Given the description of an element on the screen output the (x, y) to click on. 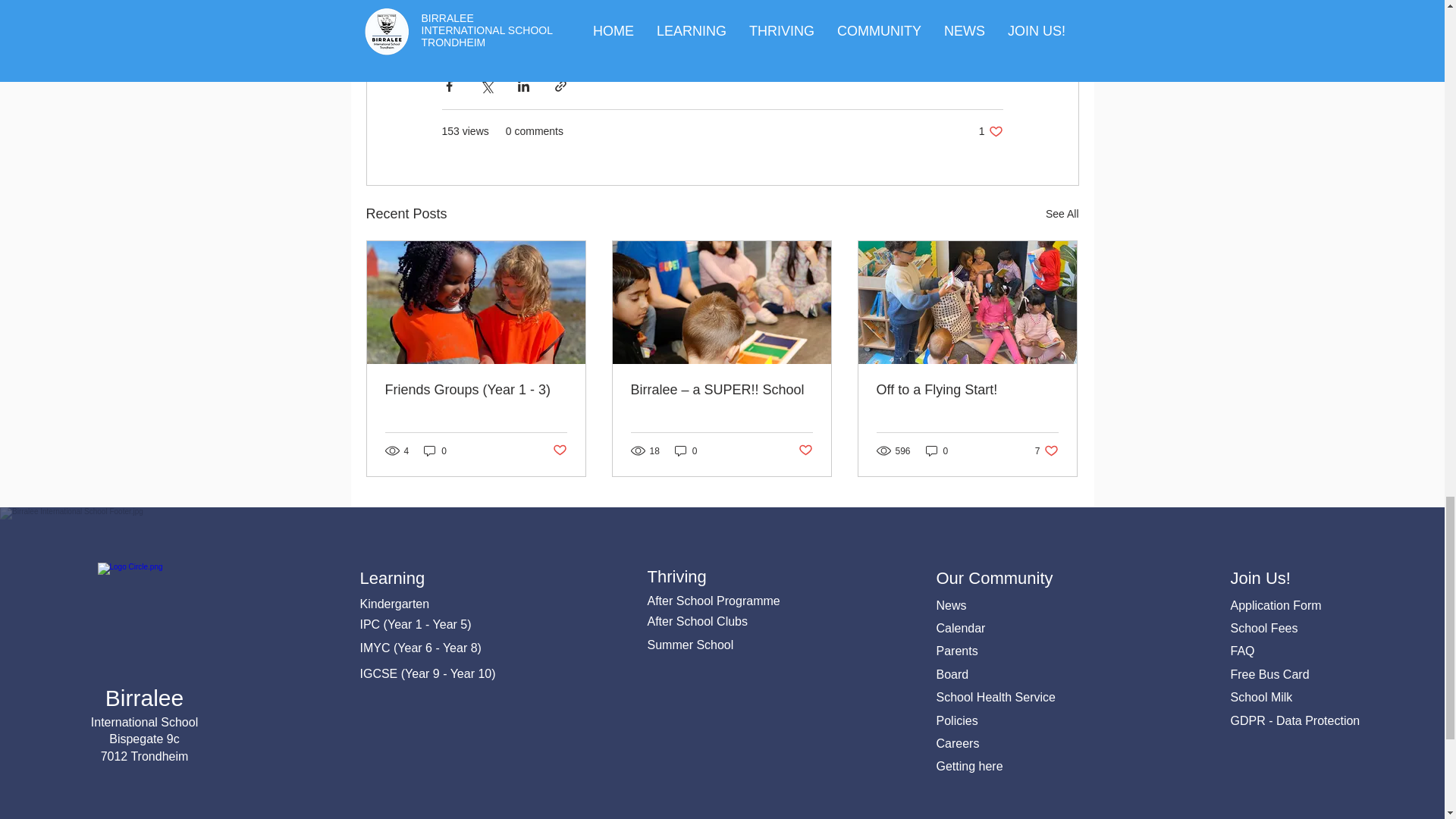
0 (685, 450)
Post not marked as liked (558, 450)
0 (435, 450)
See All (1061, 214)
Post not marked as liked (990, 131)
